Given the description of an element on the screen output the (x, y) to click on. 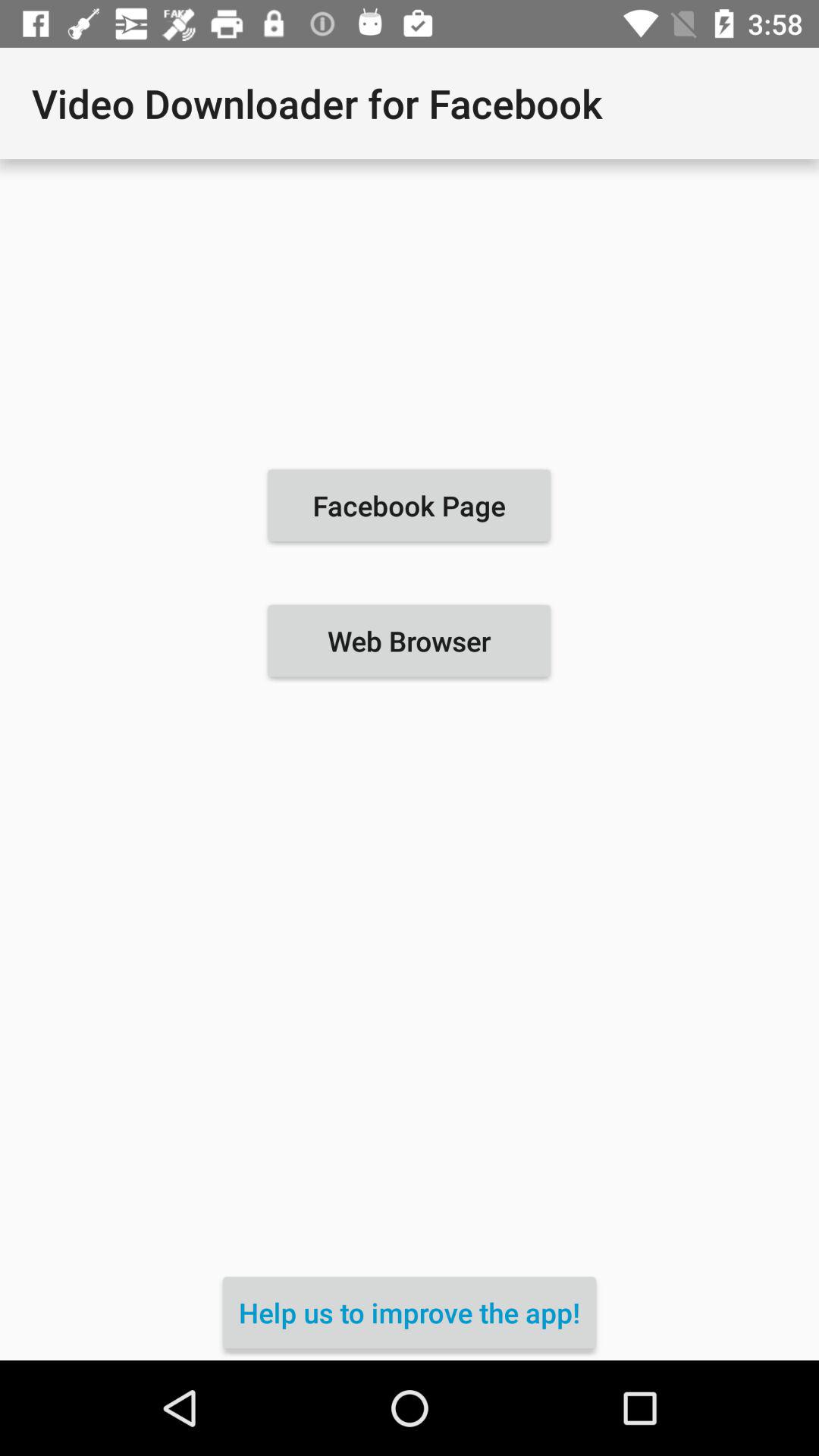
flip until the web browser (408, 640)
